Given the description of an element on the screen output the (x, y) to click on. 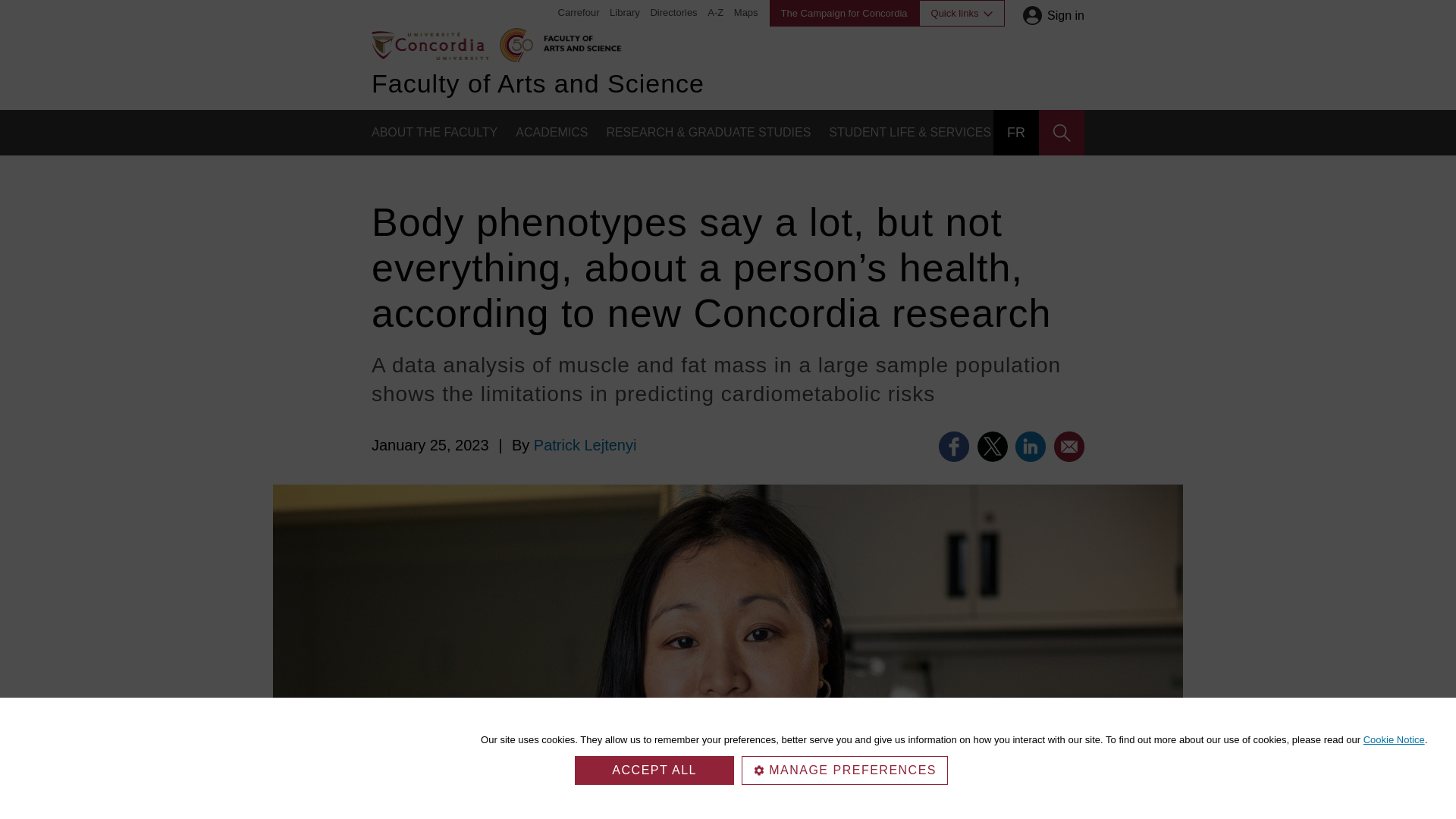
ACCEPT ALL (654, 769)
Carrefour (578, 12)
MANAGE PREFERENCES (844, 769)
Email this story (1069, 446)
Share on Facebook (954, 446)
Library (625, 12)
Back to home (429, 44)
Share on Twitter (991, 446)
Cookie Notice (1393, 739)
Share on LinkedIn (1029, 446)
Faculty of Arts and Science (579, 41)
